Given the description of an element on the screen output the (x, y) to click on. 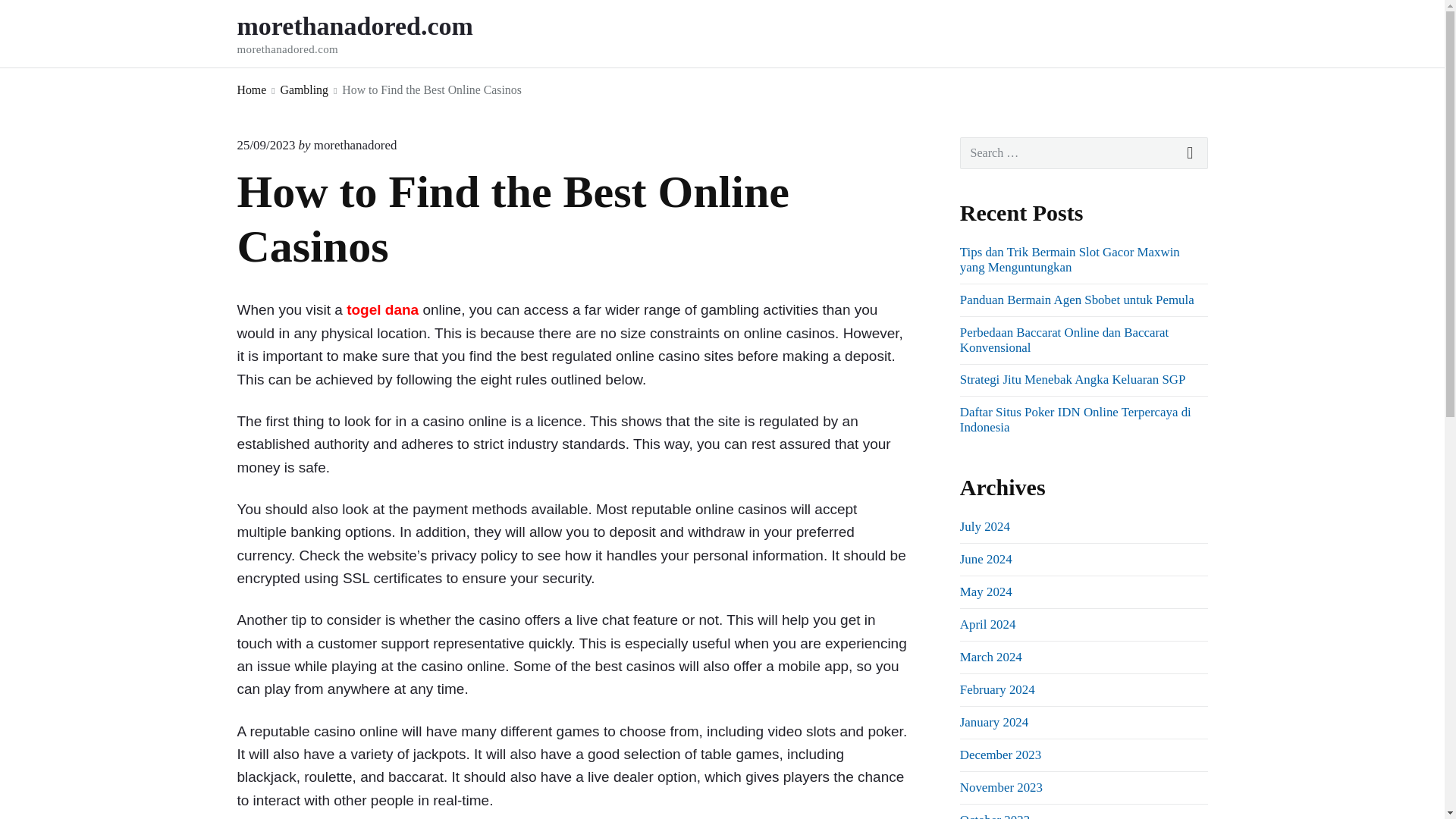
October 2023 (994, 816)
March 2024 (990, 657)
togel dana (382, 309)
Perbedaan Baccarat Online dan Baccarat Konvensional (1064, 339)
Posts by morethanadored (355, 145)
June 2024 (985, 559)
April 2024 (987, 624)
December 2023 (1000, 754)
January 2024 (993, 721)
May 2024 (985, 591)
Tips dan Trik Bermain Slot Gacor Maxwin yang Menguntungkan (1069, 259)
February 2024 (997, 689)
morethanadored (355, 145)
Strategi Jitu Menebak Angka Keluaran SGP (1072, 379)
Panduan Bermain Agen Sbobet untuk Pemula (1076, 299)
